Given the description of an element on the screen output the (x, y) to click on. 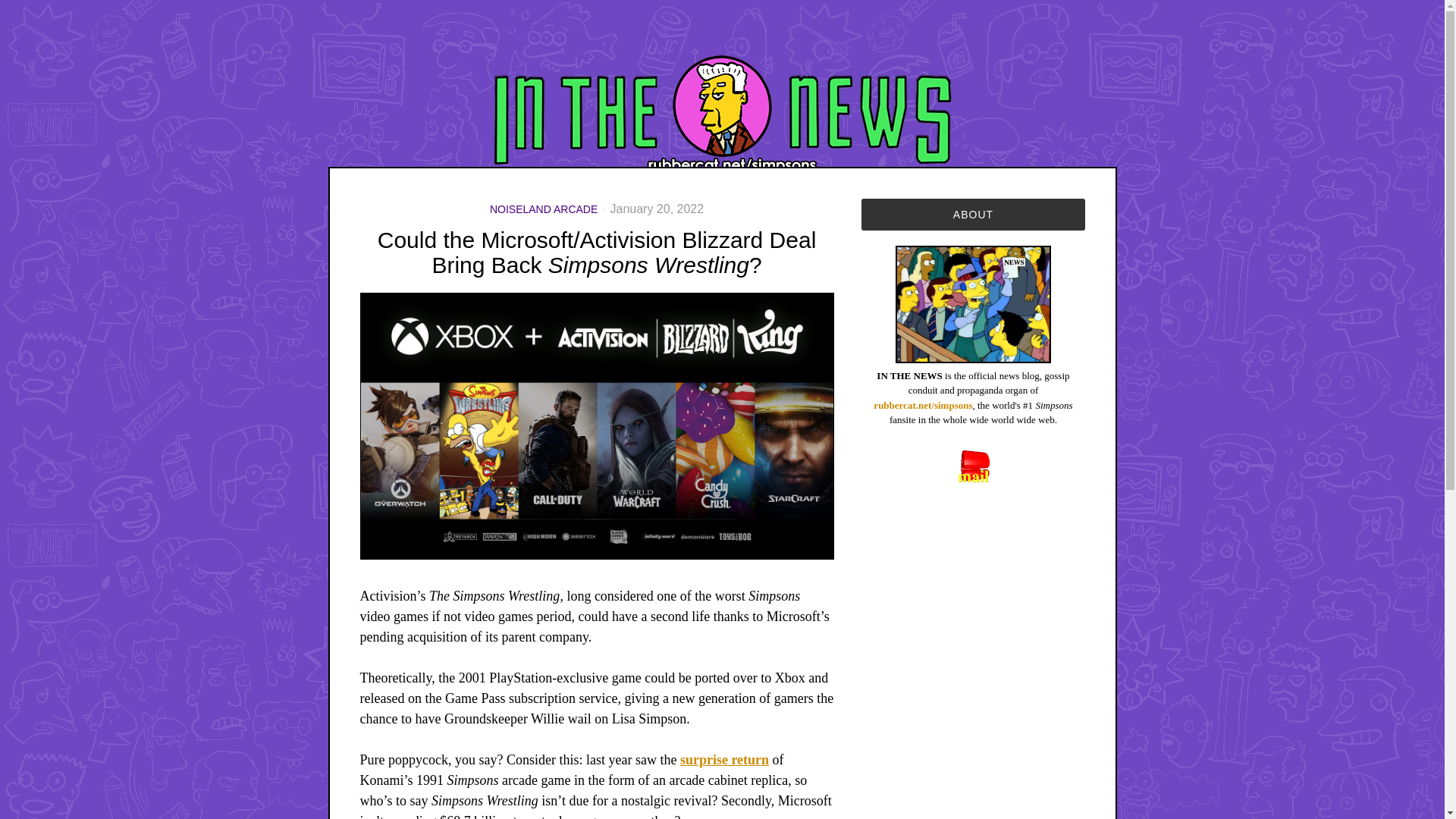
Diab-d'oh! (595, 425)
NOISELAND ARCADE (542, 209)
surprise return (723, 759)
